Given the description of an element on the screen output the (x, y) to click on. 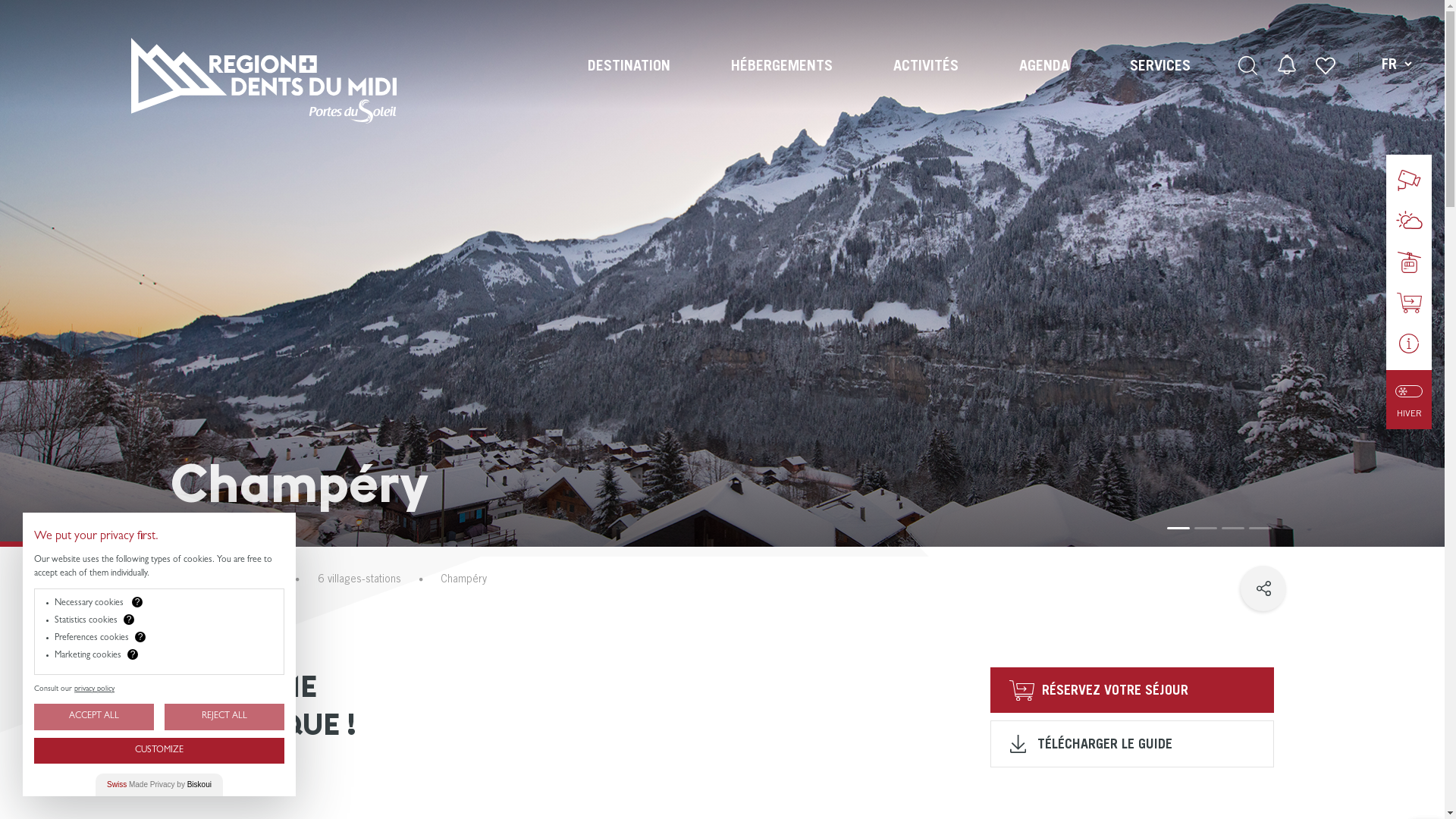
ACCEPT ALL Element type: text (93, 716)
privacy policy Element type: text (94, 689)
REJECT ALL Element type: text (224, 716)
DESTINATION Element type: text (628, 65)
AGENDA Element type: text (1044, 65)
Swiss Made Privacy by Biskoui Element type: text (158, 784)
CUSTOMIZE Element type: text (159, 750)
SERVICES Element type: text (1159, 65)
6 villages-stations Element type: text (359, 578)
